Given the description of an element on the screen output the (x, y) to click on. 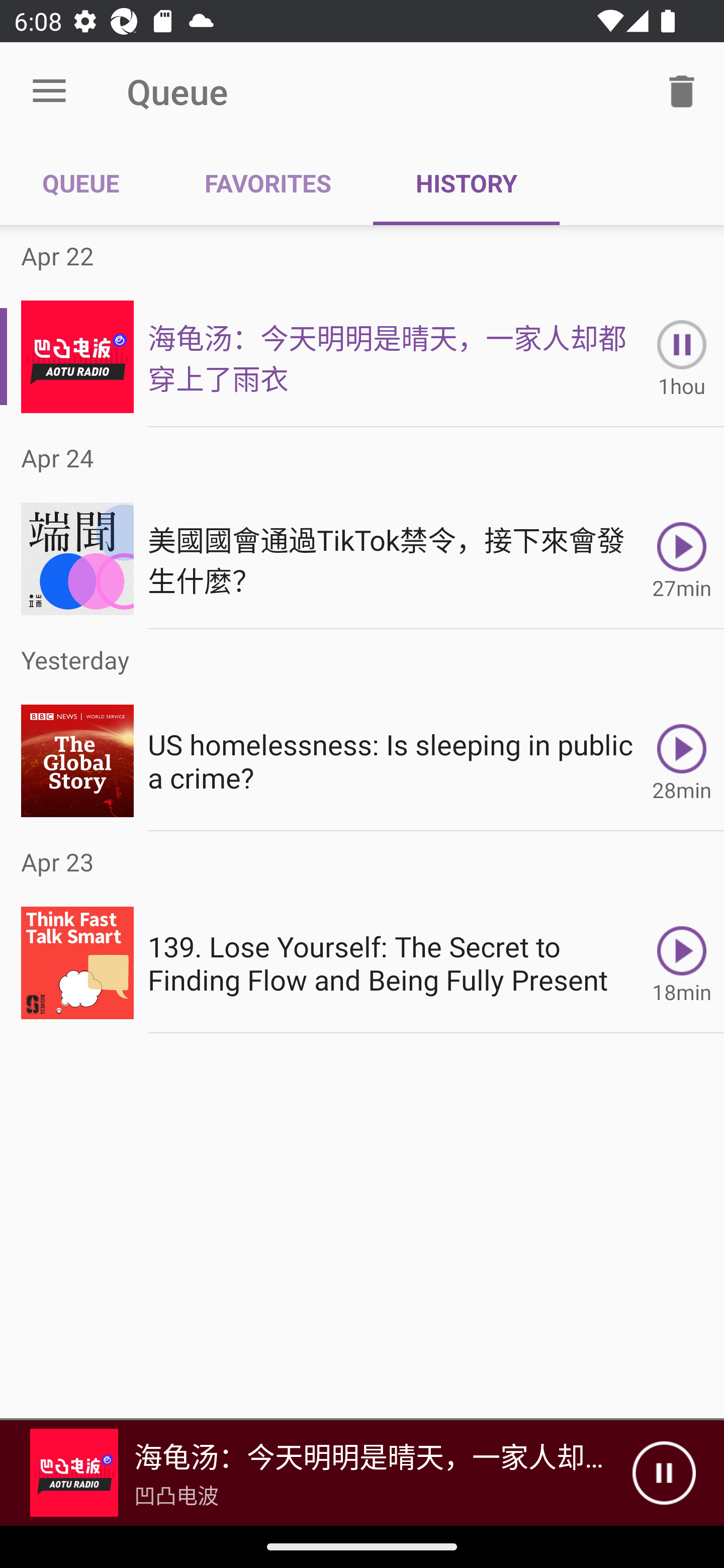
Open menu (49, 91)
Clear History (681, 90)
QUEUE (81, 183)
FAVORITES (267, 183)
HISTORY (465, 183)
Apr 22 海龟汤：今天明明是晴天，一家人却都穿上了雨衣 Play 1hou (362, 325)
Play 1hou (681, 356)
Apr 24 美國國會通過TikTok禁令，接下來會發生什麼？ Play 27min (362, 527)
Play 27min (681, 558)
Play 28min (681, 760)
Play 18min (681, 962)
Picture 海龟汤：今天明明是晴天，一家人却都穿上了雨衣 凹凸电波 (316, 1472)
Pause (663, 1472)
